Given the description of an element on the screen output the (x, y) to click on. 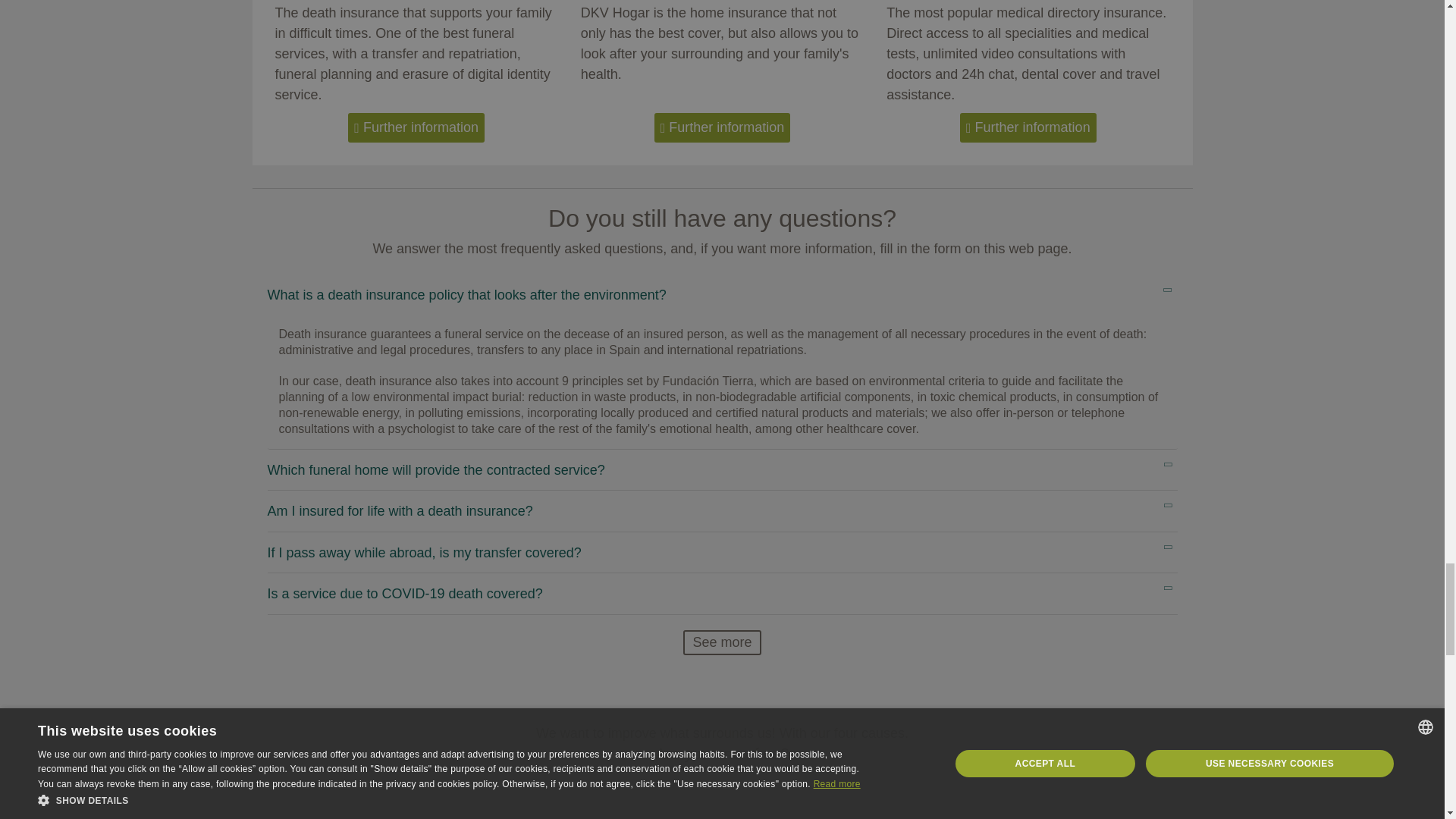
Further information (415, 127)
